Given the description of an element on the screen output the (x, y) to click on. 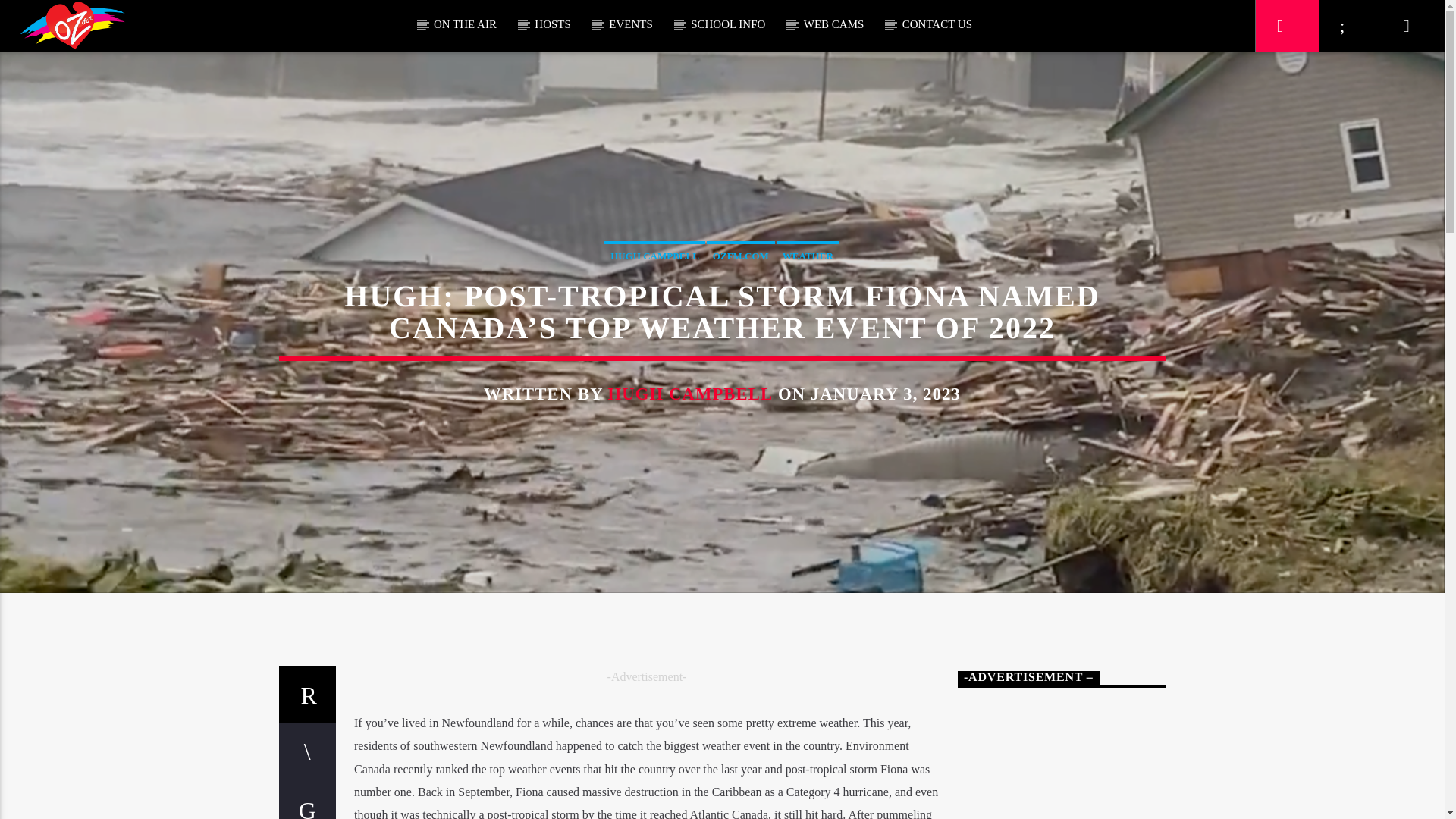
EVENTS (630, 24)
HOSTS (553, 24)
ON THE AIR (464, 24)
CONTACT US (936, 24)
Posts by Hugh Campbell (690, 393)
WEB CAMS (833, 24)
SCHOOL INFO (728, 24)
